Given the description of an element on the screen output the (x, y) to click on. 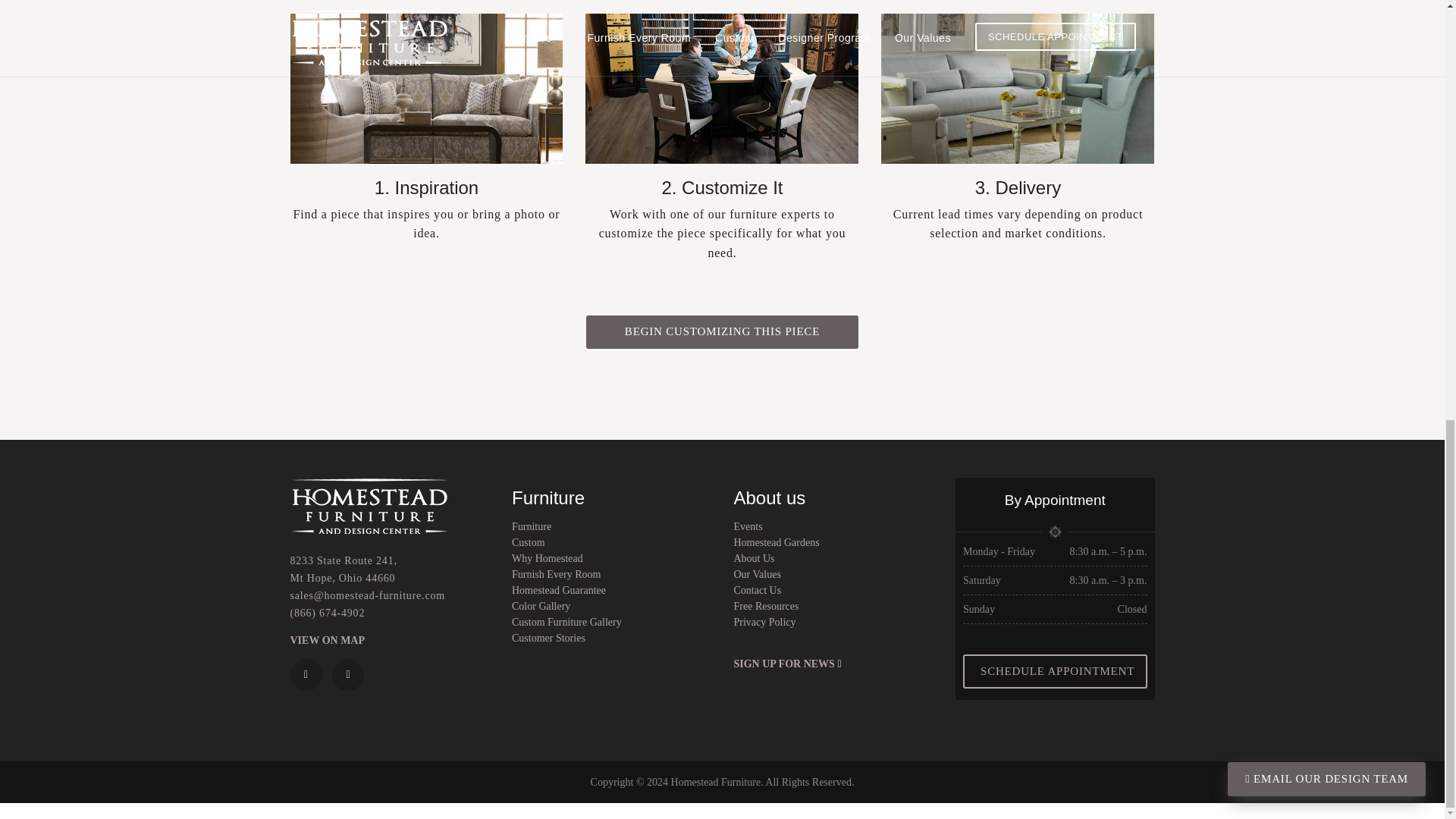
VIEW ON MAP (342, 569)
Furniture (327, 640)
Custom (531, 526)
BEGIN CUSTOMIZING THIS PIECE (528, 542)
